Given the description of an element on the screen output the (x, y) to click on. 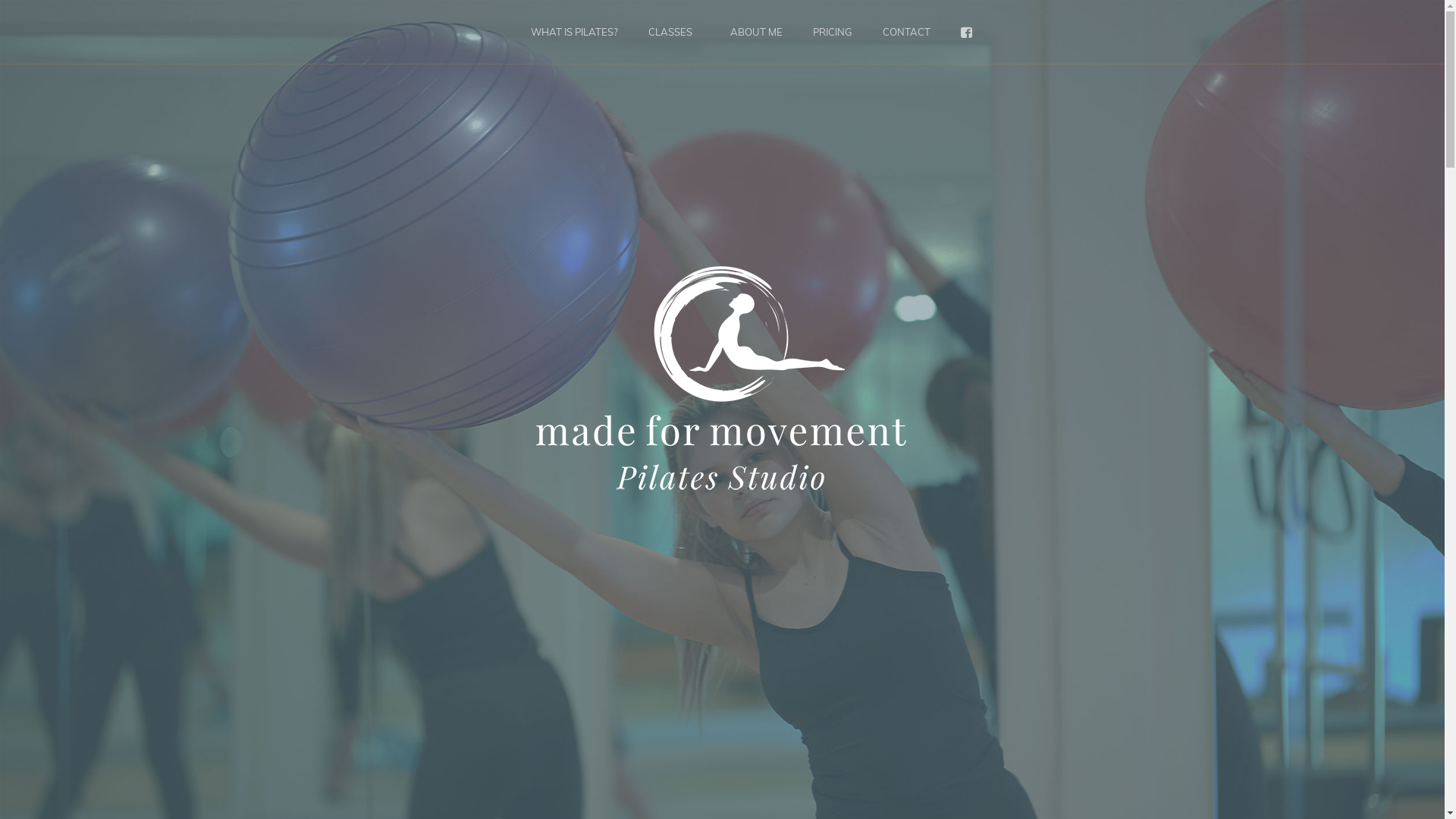
CLASSES Element type: text (670, 31)
WHAT IS PILATES? Element type: text (574, 31)
ABOUT ME Element type: text (756, 31)
PRICING Element type: text (832, 31)
CONTACT Element type: text (906, 31)
